Given the description of an element on the screen output the (x, y) to click on. 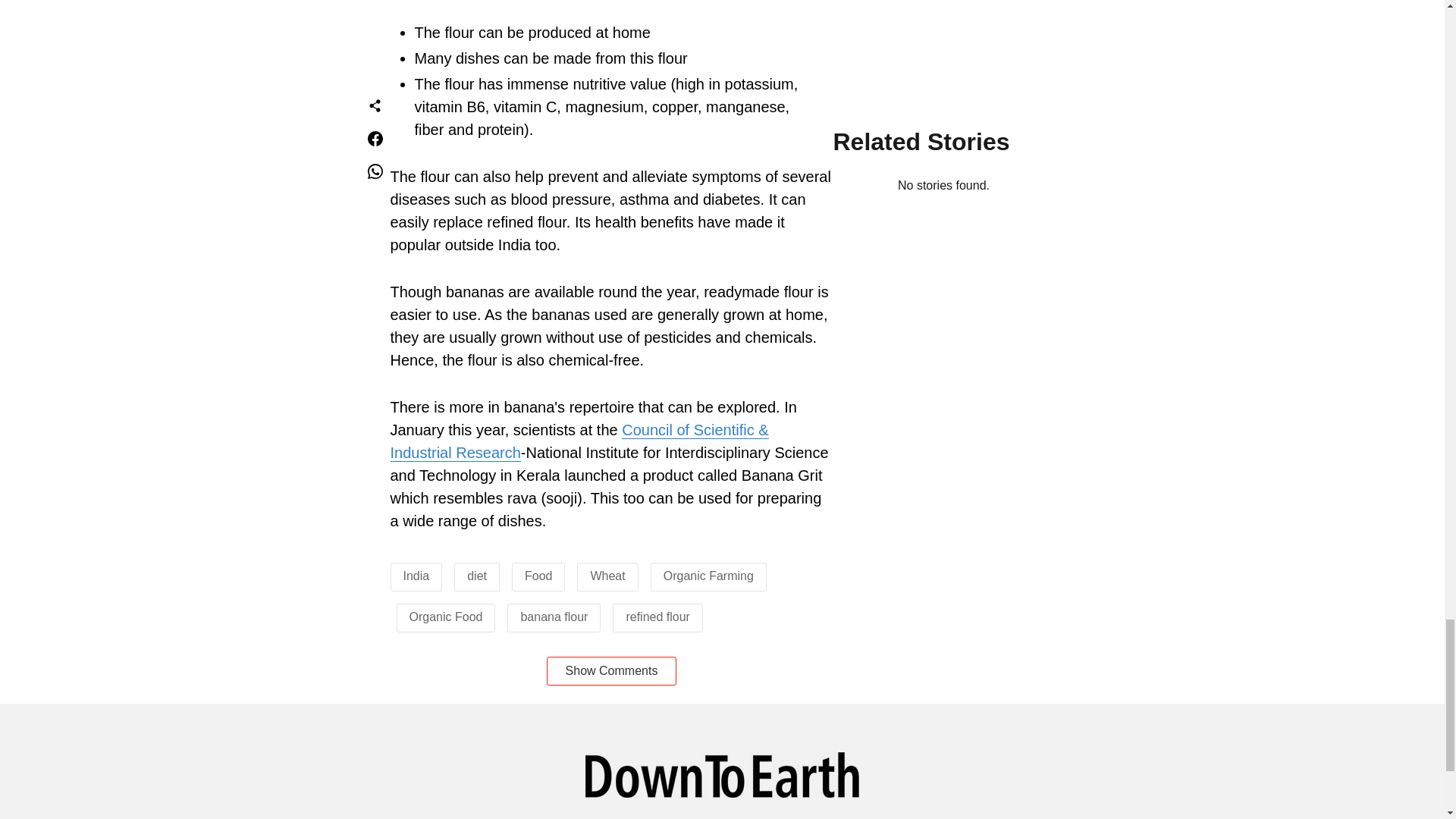
Organic Farming (708, 575)
banana flour (553, 616)
diet (476, 575)
Food (537, 575)
India (416, 575)
Wheat (606, 575)
Organic Food (446, 616)
refined flour (658, 616)
